Given the description of an element on the screen output the (x, y) to click on. 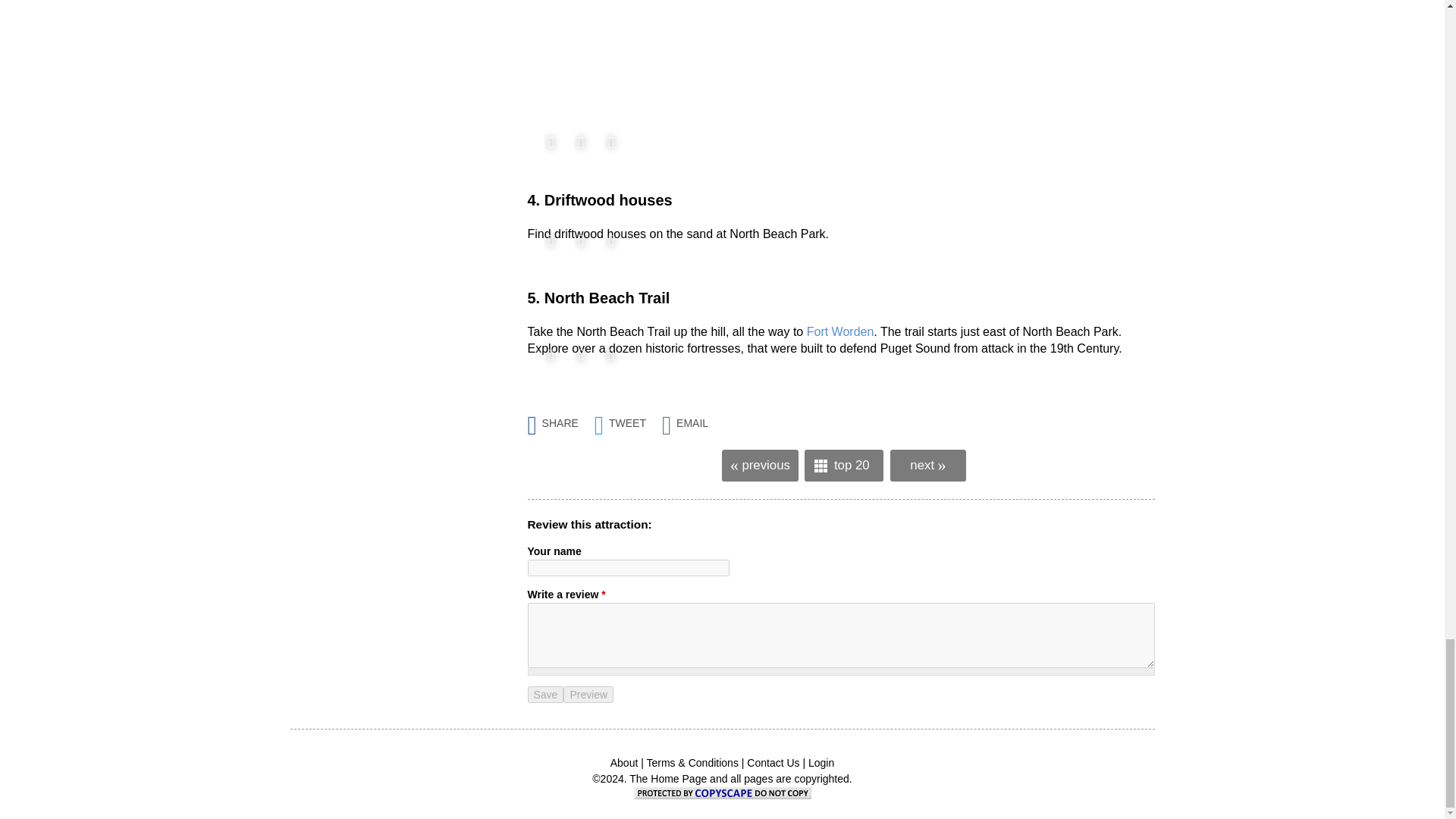
Preview (587, 694)
Save (545, 694)
